Given the description of an element on the screen output the (x, y) to click on. 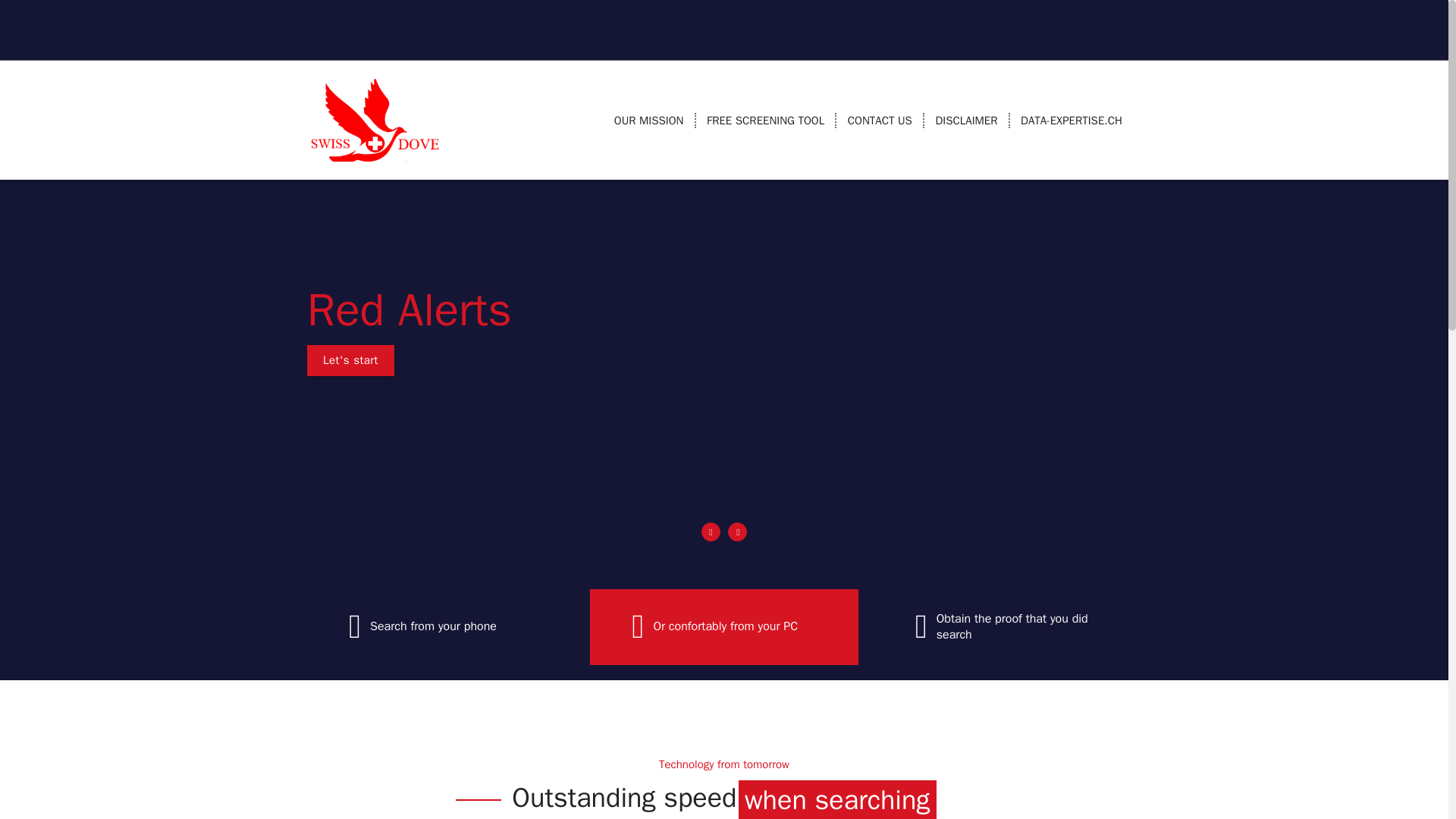
OUR MISSION (648, 120)
DATA-EXPERTISE.CH (1071, 120)
FREE SCREENING TOOL (764, 120)
Obtain the proof that you did search (1017, 626)
DISCLAIMER (966, 120)
FREE SCREENING TOOL (764, 120)
DISCLAIMER (966, 120)
CONTACT US (879, 120)
Search from your phone (432, 627)
Let's start (350, 359)
